Given the description of an element on the screen output the (x, y) to click on. 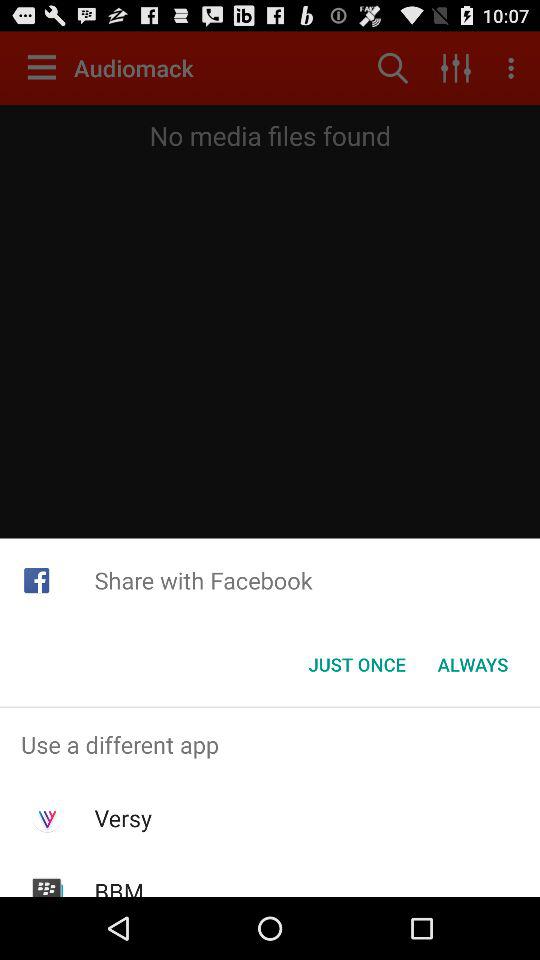
select icon below the share with facebook item (472, 664)
